Given the description of an element on the screen output the (x, y) to click on. 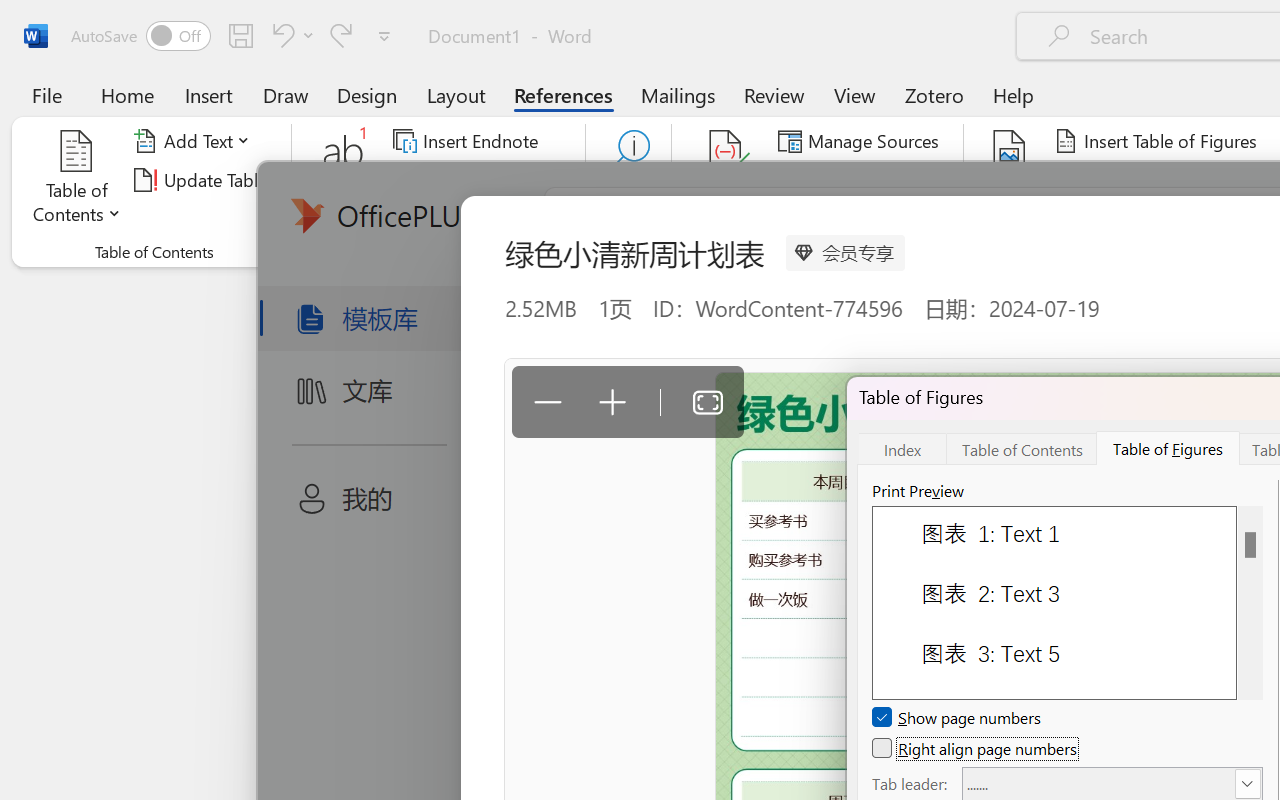
Redo Apply Quick Style (341, 35)
Style (892, 179)
Search (628, 179)
Insert Table of Figures... (1158, 141)
Footnote and Endnote Dialog... (573, 252)
Table of Figures (1167, 447)
Right align page numbers (976, 748)
Next Footnote (479, 179)
